Given the description of an element on the screen output the (x, y) to click on. 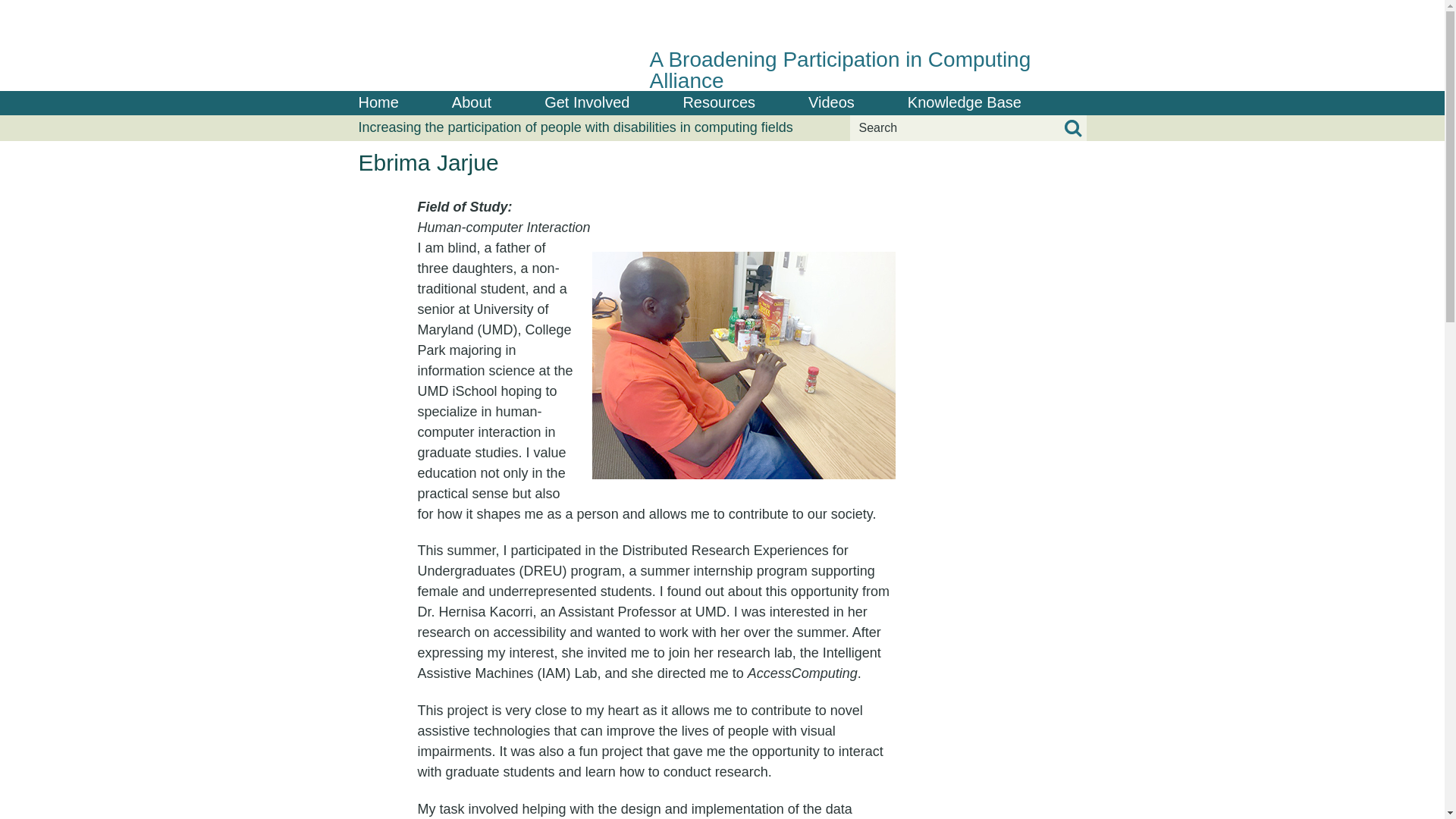
Go (1072, 128)
Home (377, 103)
All About DO-IT (471, 103)
Knowledge Base (964, 103)
Get Involved (586, 103)
Enter the terms you wish to search for. (967, 127)
Videos (831, 103)
A Broadening Participation in Computing Alliance (722, 45)
Go (1072, 128)
